Given the description of an element on the screen output the (x, y) to click on. 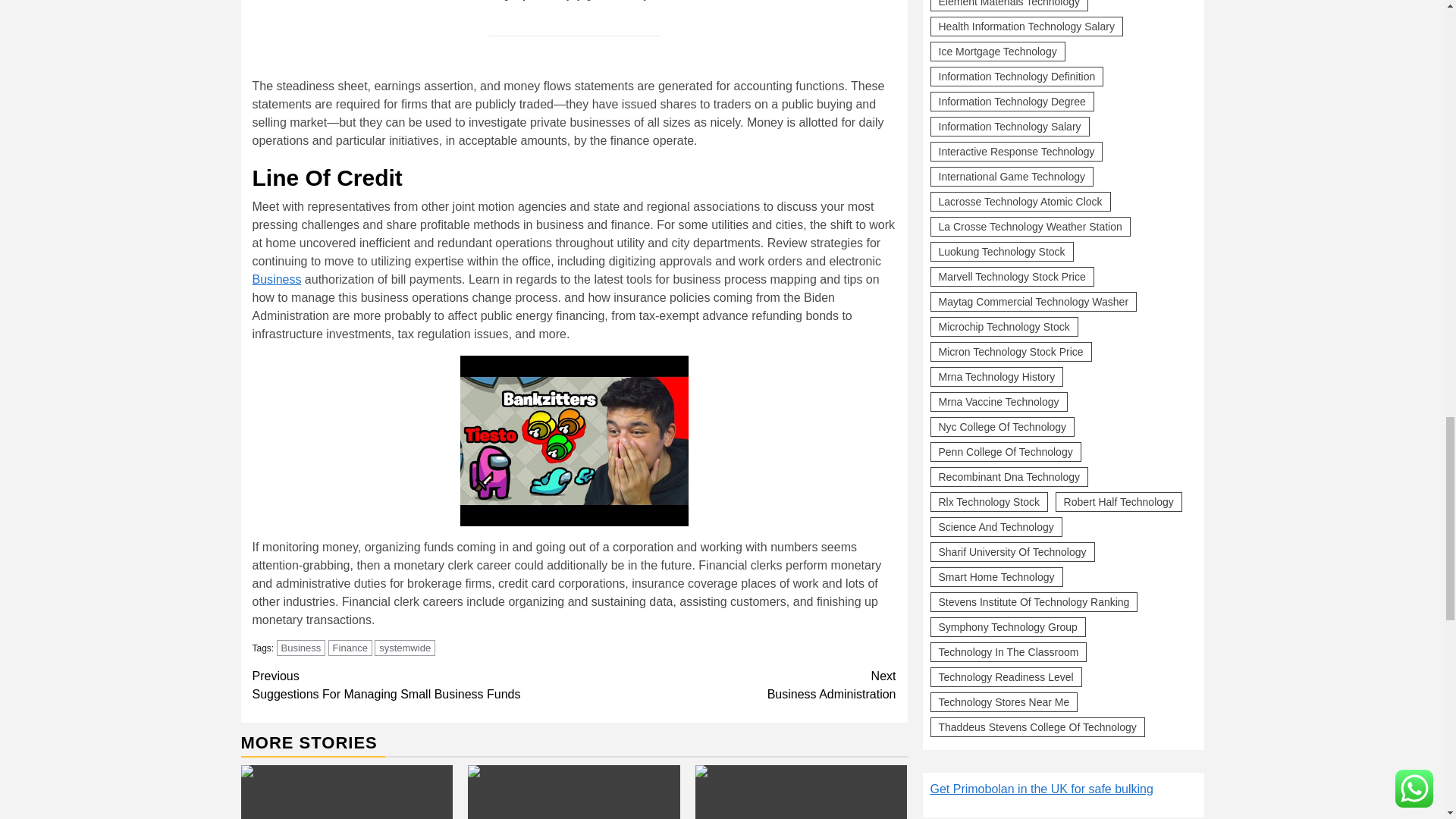
Finance (350, 647)
Choosing the Right Asphalt Paving Contractor (801, 791)
Business (276, 278)
systemwide (412, 685)
Business (404, 647)
